Given the description of an element on the screen output the (x, y) to click on. 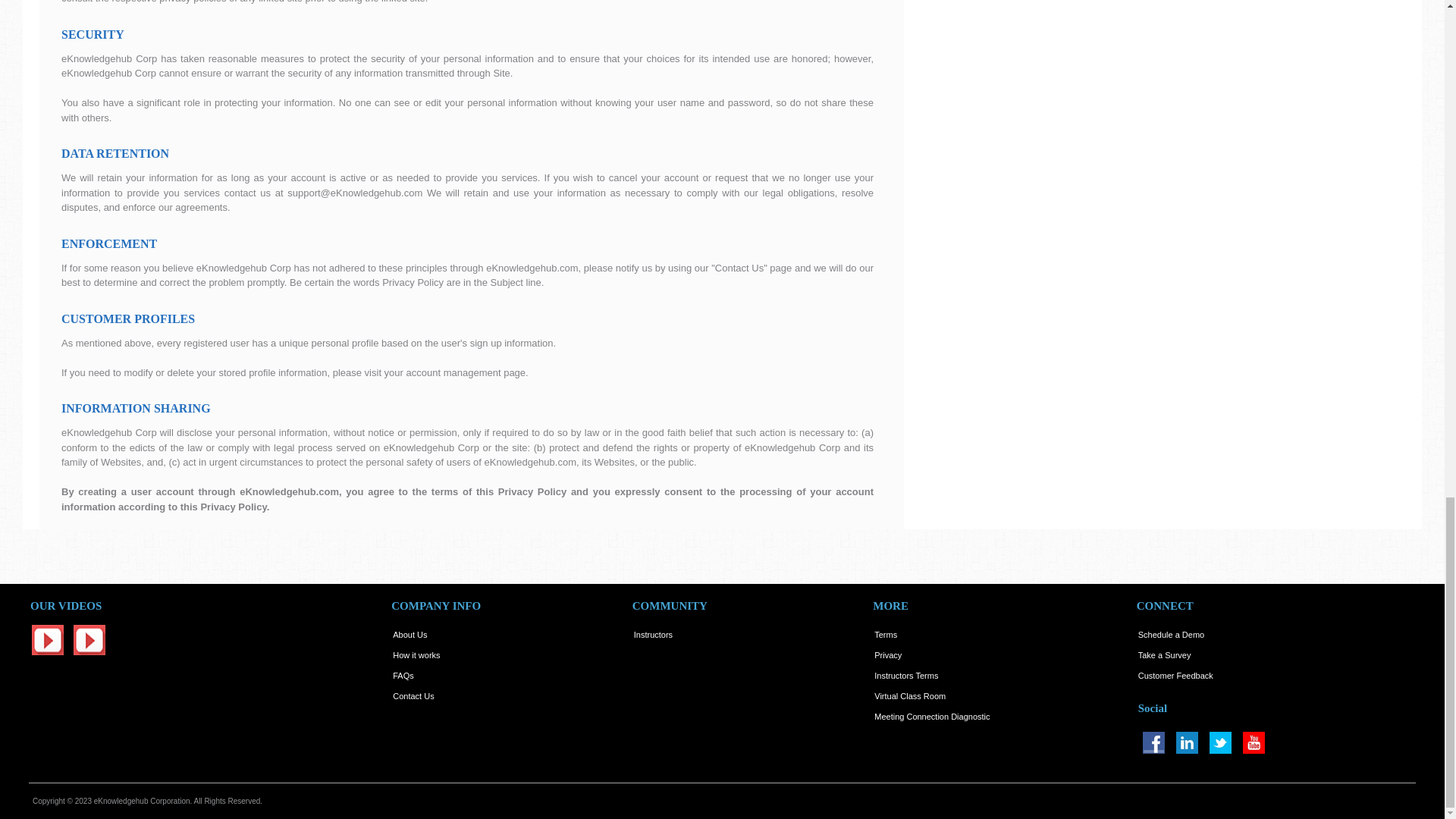
How it works (416, 655)
Take a Survey (1164, 655)
Customer Feedback (1175, 674)
Contact Us (413, 696)
Virtual Class Room (909, 696)
Instructors Terms (906, 674)
About Us (409, 633)
Instructors (652, 633)
Privacy (888, 655)
Meeting Connection Diagnostic (932, 715)
